Given the description of an element on the screen output the (x, y) to click on. 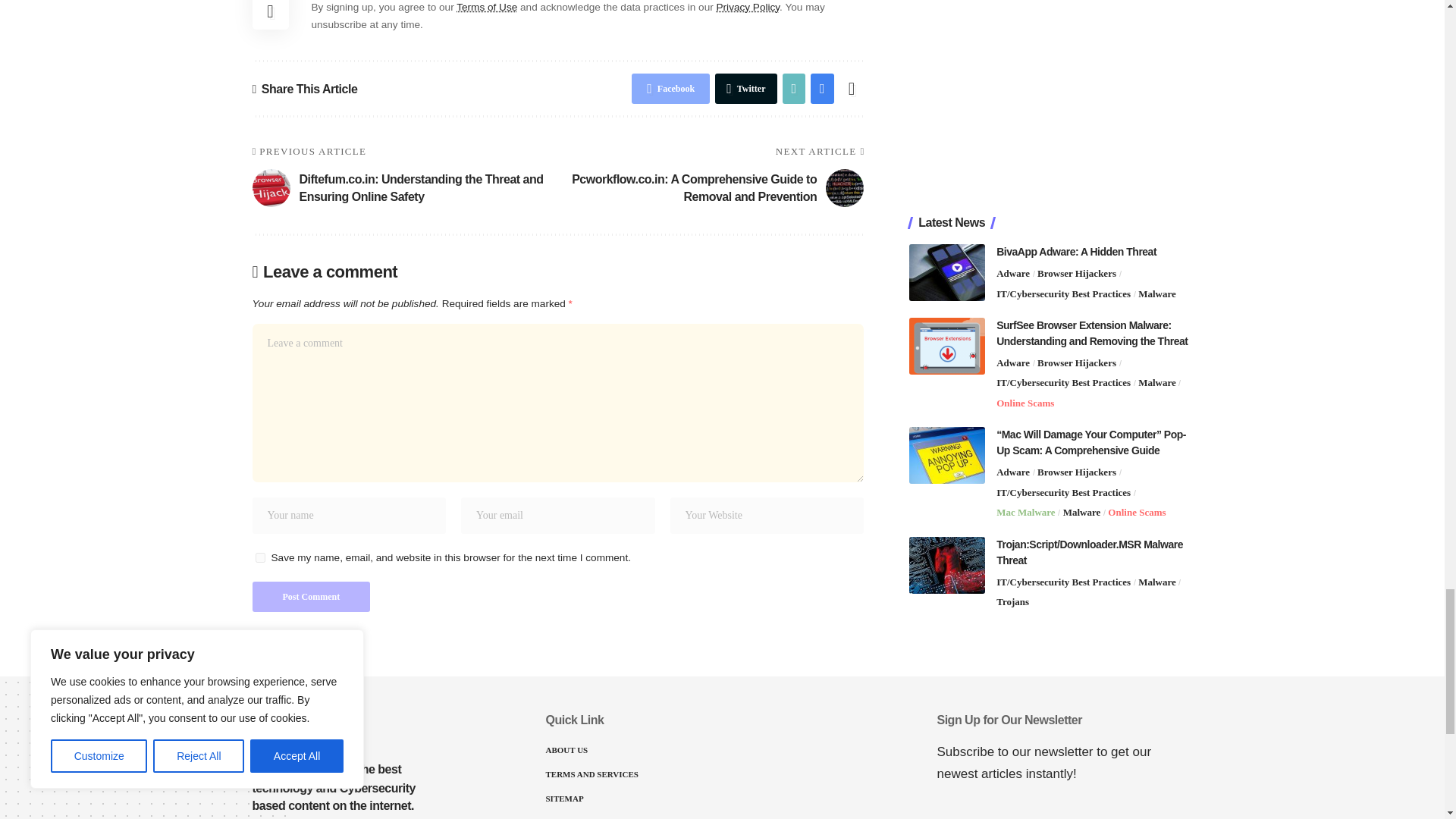
yes (259, 557)
Post Comment (310, 596)
